Given the description of an element on the screen output the (x, y) to click on. 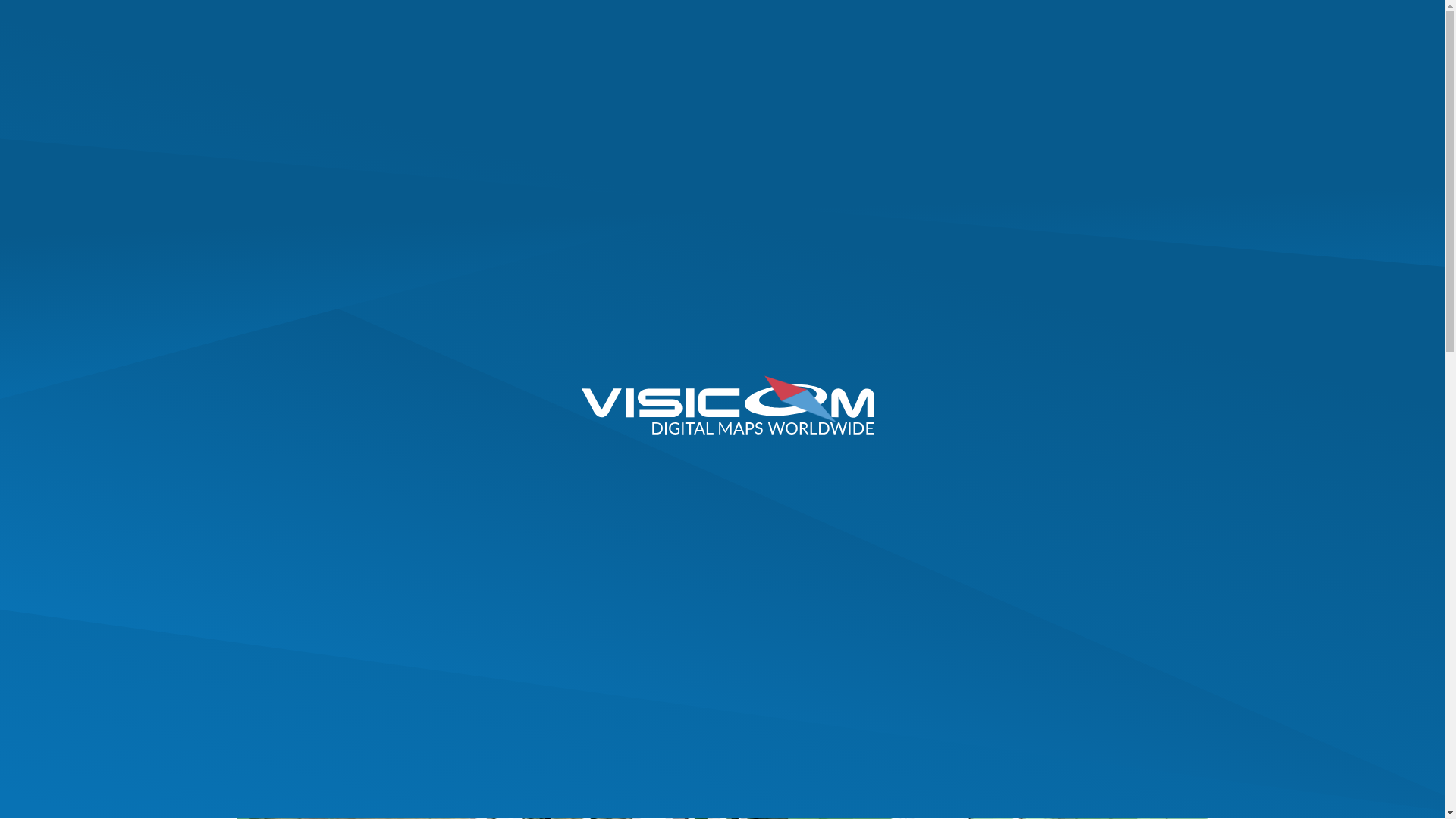
News (393, 488)
Markets (702, 60)
Contact us (1052, 25)
Samples (787, 60)
Contact (1064, 60)
Online maps (1161, 25)
Company (870, 60)
Geodata Portfolio (499, 60)
Contact us (1052, 25)
Online maps (1161, 25)
Products (611, 60)
